Given the description of an element on the screen output the (x, y) to click on. 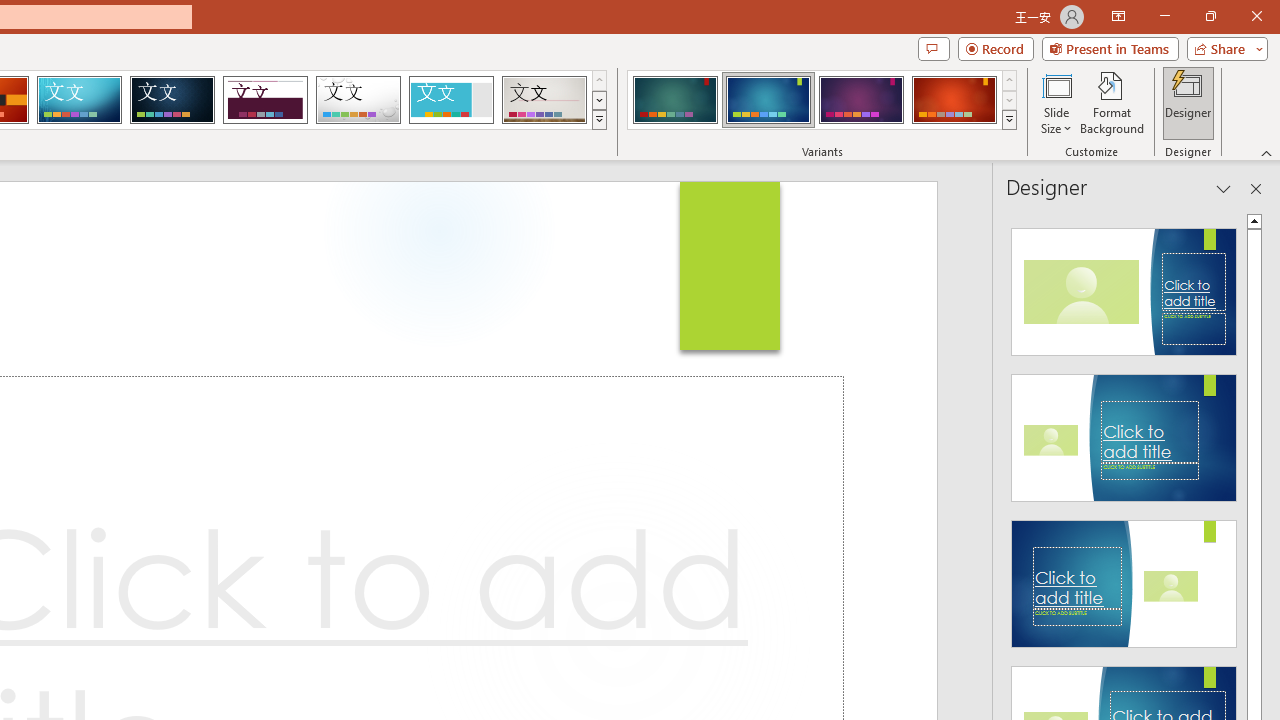
Droplet Loading Preview... (358, 100)
Recommended Design: Design Idea (1124, 286)
Themes (598, 120)
Collapse the Ribbon (1267, 152)
Design Idea (1124, 577)
Ribbon Display Options (1118, 16)
Close pane (1256, 188)
Class: NetUIImage (1009, 119)
Gallery Loading Preview... (544, 100)
Damask Loading Preview... (171, 100)
Restore Down (1210, 16)
Present in Teams (1109, 48)
Row Down (1009, 100)
Format Background (1111, 102)
